Given the description of an element on the screen output the (x, y) to click on. 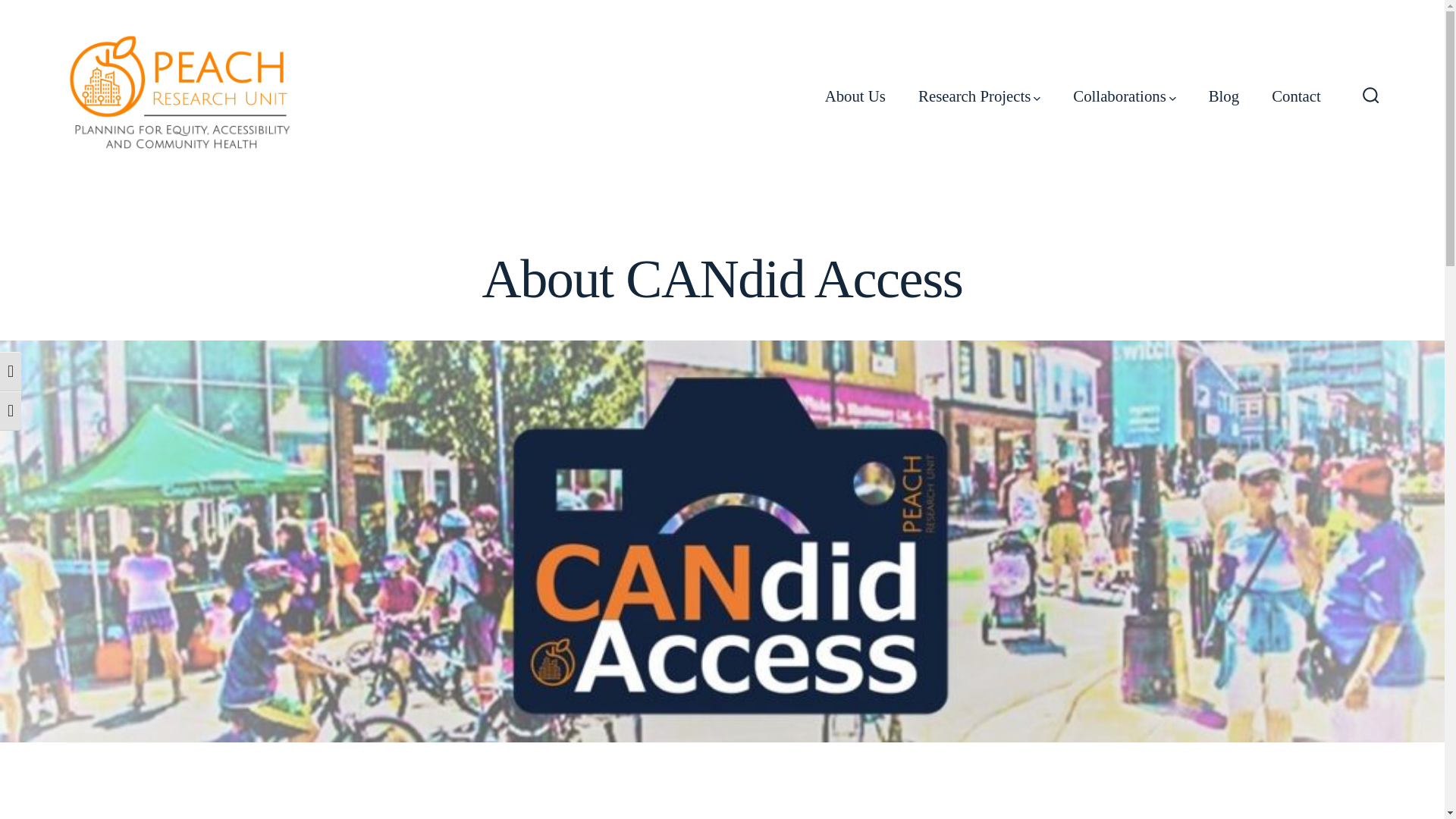
Research Projects (979, 95)
Collaborations (1123, 95)
Blog (1223, 95)
Search Toggle (1371, 96)
About Us (855, 95)
Contact (1295, 95)
